Given the description of an element on the screen output the (x, y) to click on. 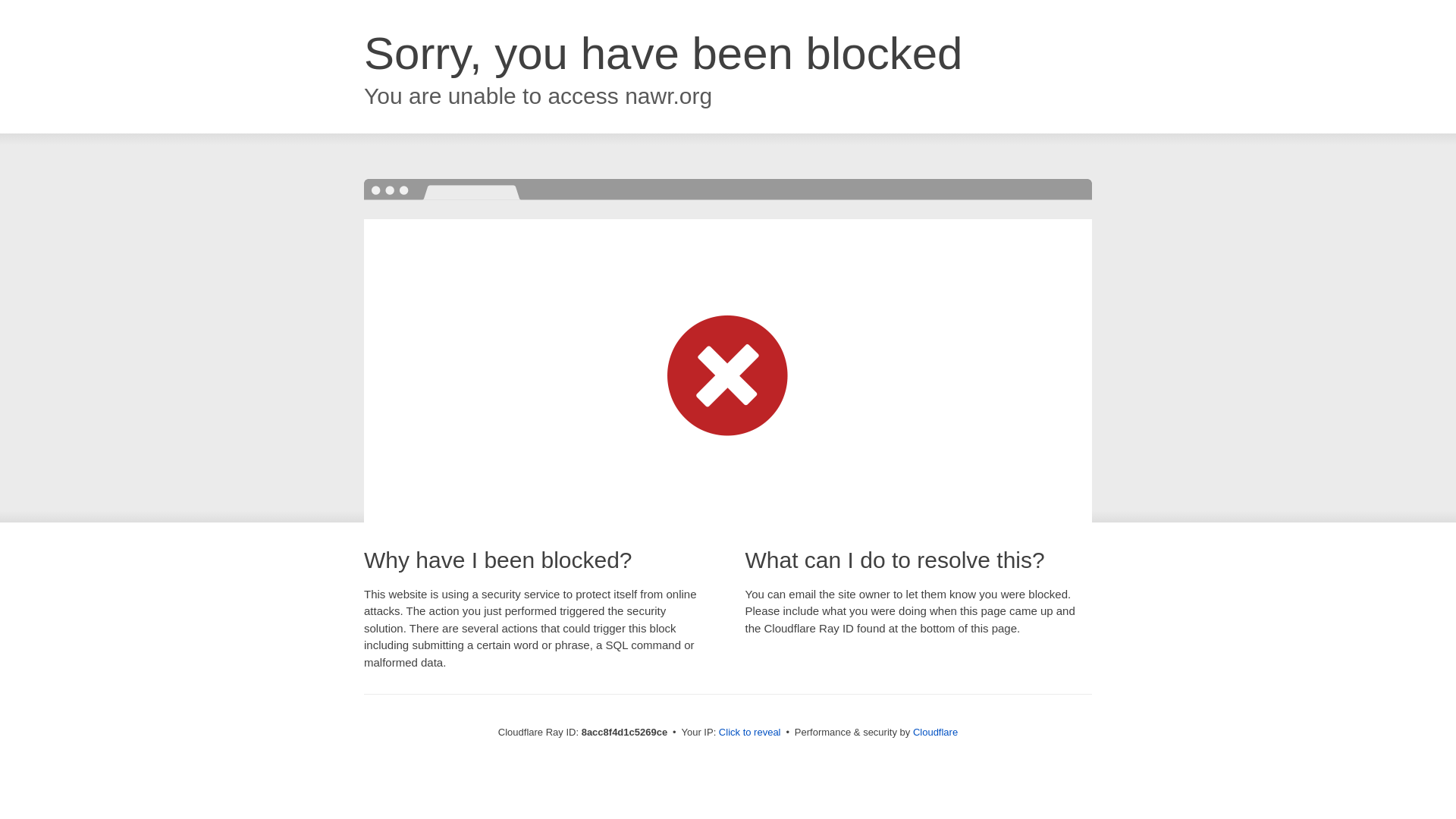
Cloudflare (935, 731)
Click to reveal (749, 732)
